Given the description of an element on the screen output the (x, y) to click on. 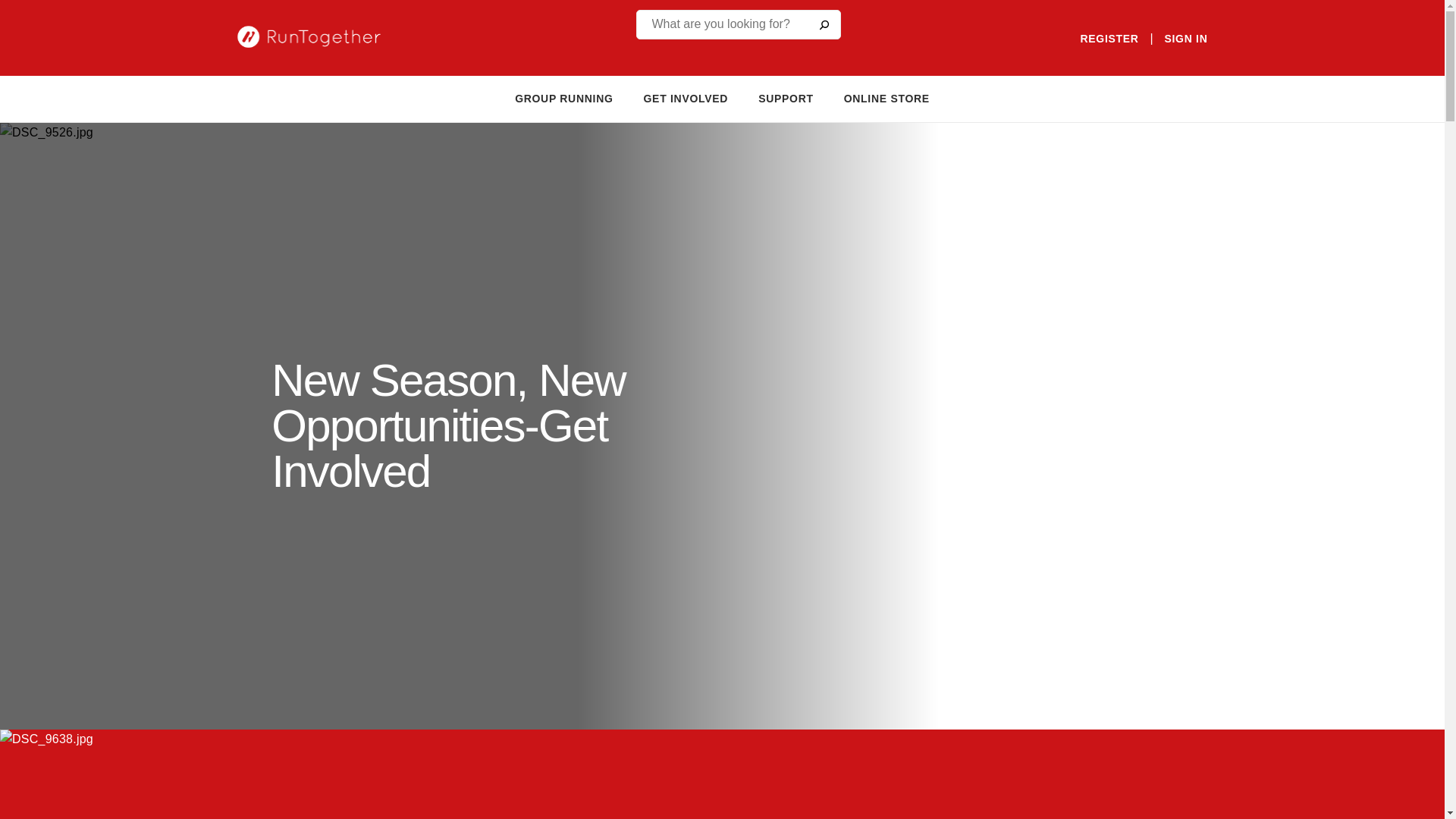
SIGN IN (1185, 39)
GROUP RUNNING (563, 99)
ONLINE STORE (887, 99)
GET INVOLVED (686, 99)
REGISTER (1109, 39)
SUPPORT (785, 99)
Go (823, 24)
